Given the description of an element on the screen output the (x, y) to click on. 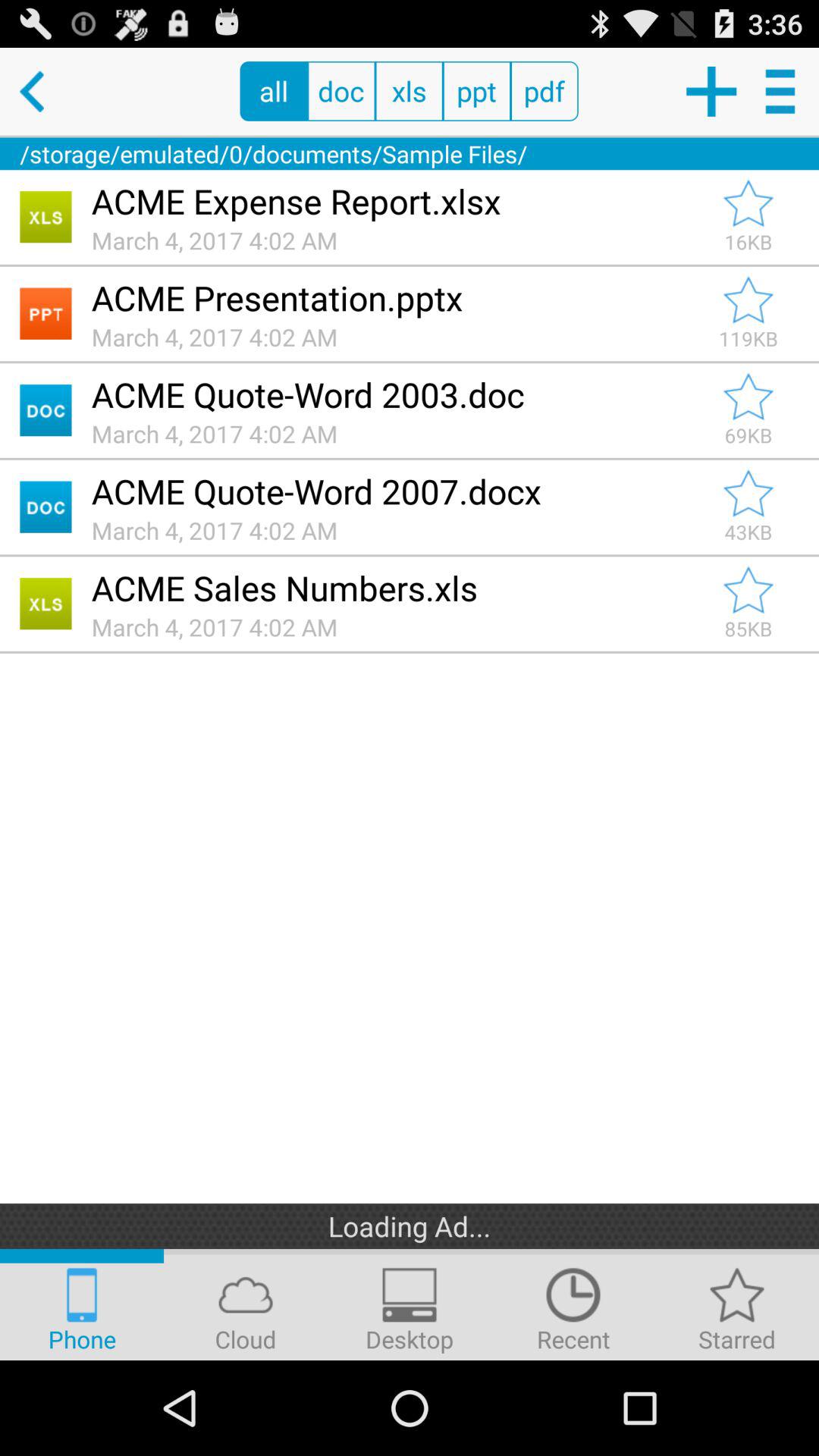
go back (43, 91)
